Given the description of an element on the screen output the (x, y) to click on. 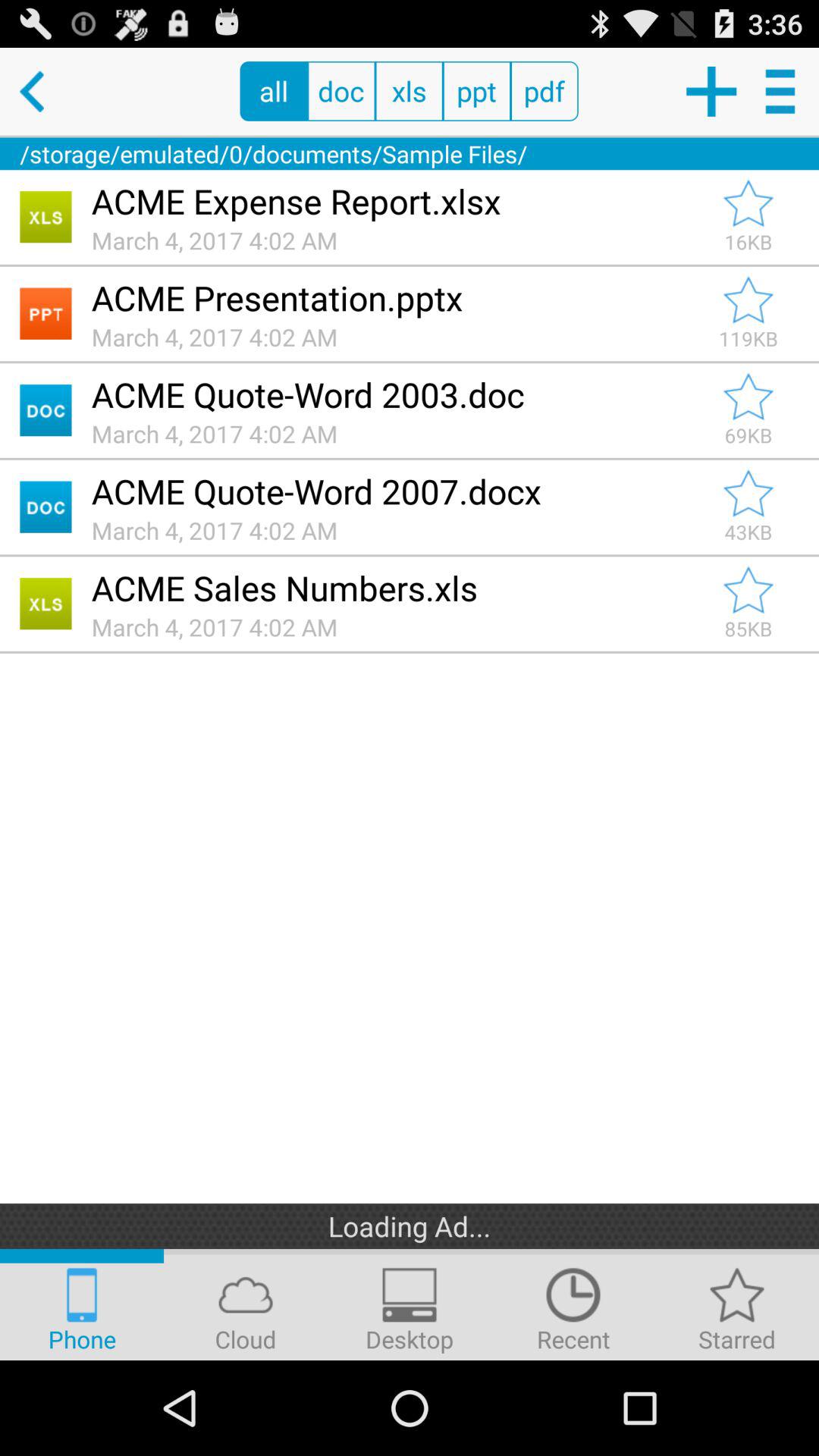
go back (43, 91)
